Given the description of an element on the screen output the (x, y) to click on. 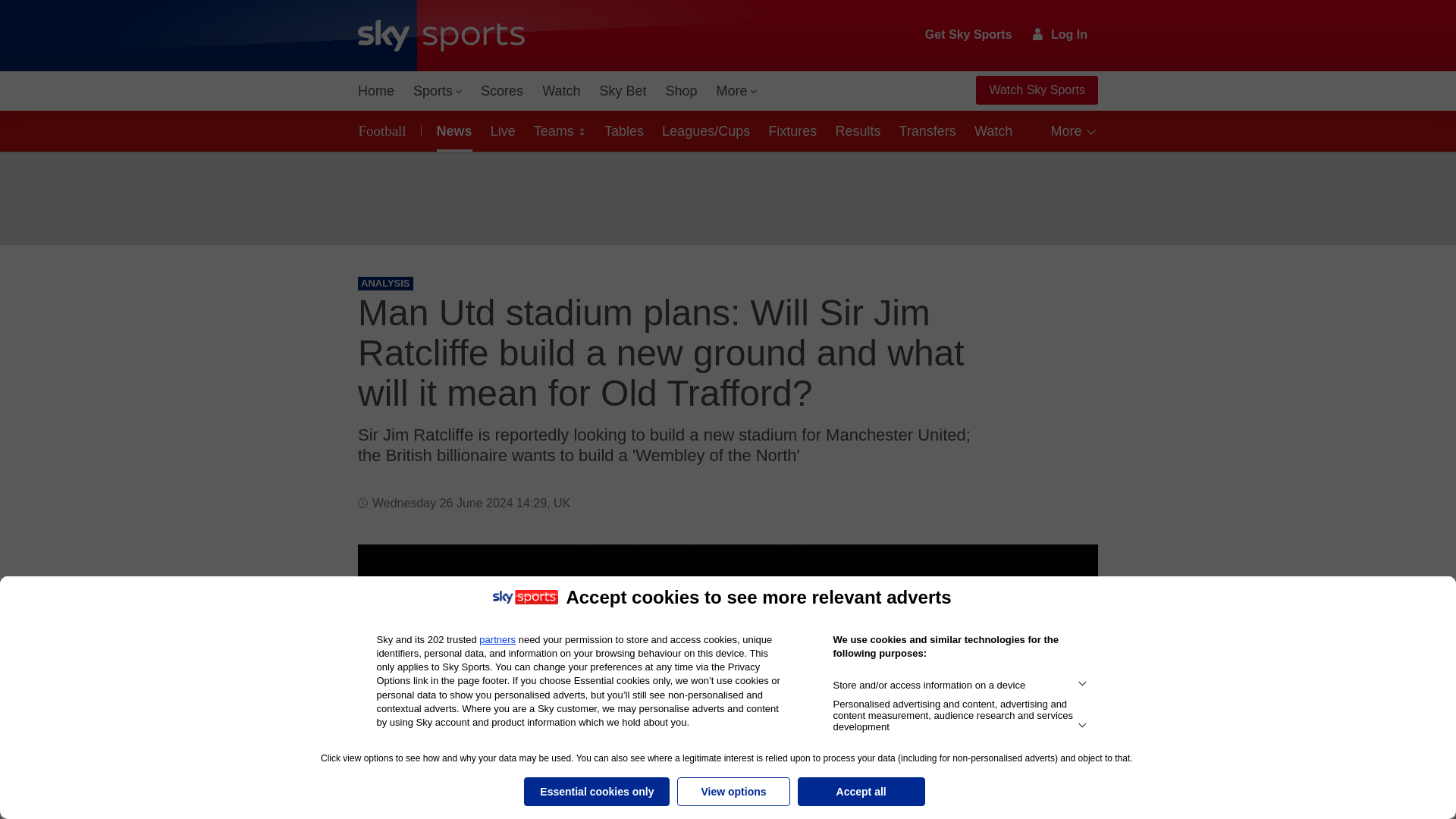
Home (375, 91)
Get Sky Sports (968, 34)
News (451, 130)
More (736, 91)
Scores (502, 91)
Share (1067, 574)
Watch Sky Sports (1036, 90)
Shop (681, 91)
Football (385, 130)
Watch (561, 91)
Log In (1060, 33)
Sky Bet (622, 91)
Sports (437, 91)
